Given the description of an element on the screen output the (x, y) to click on. 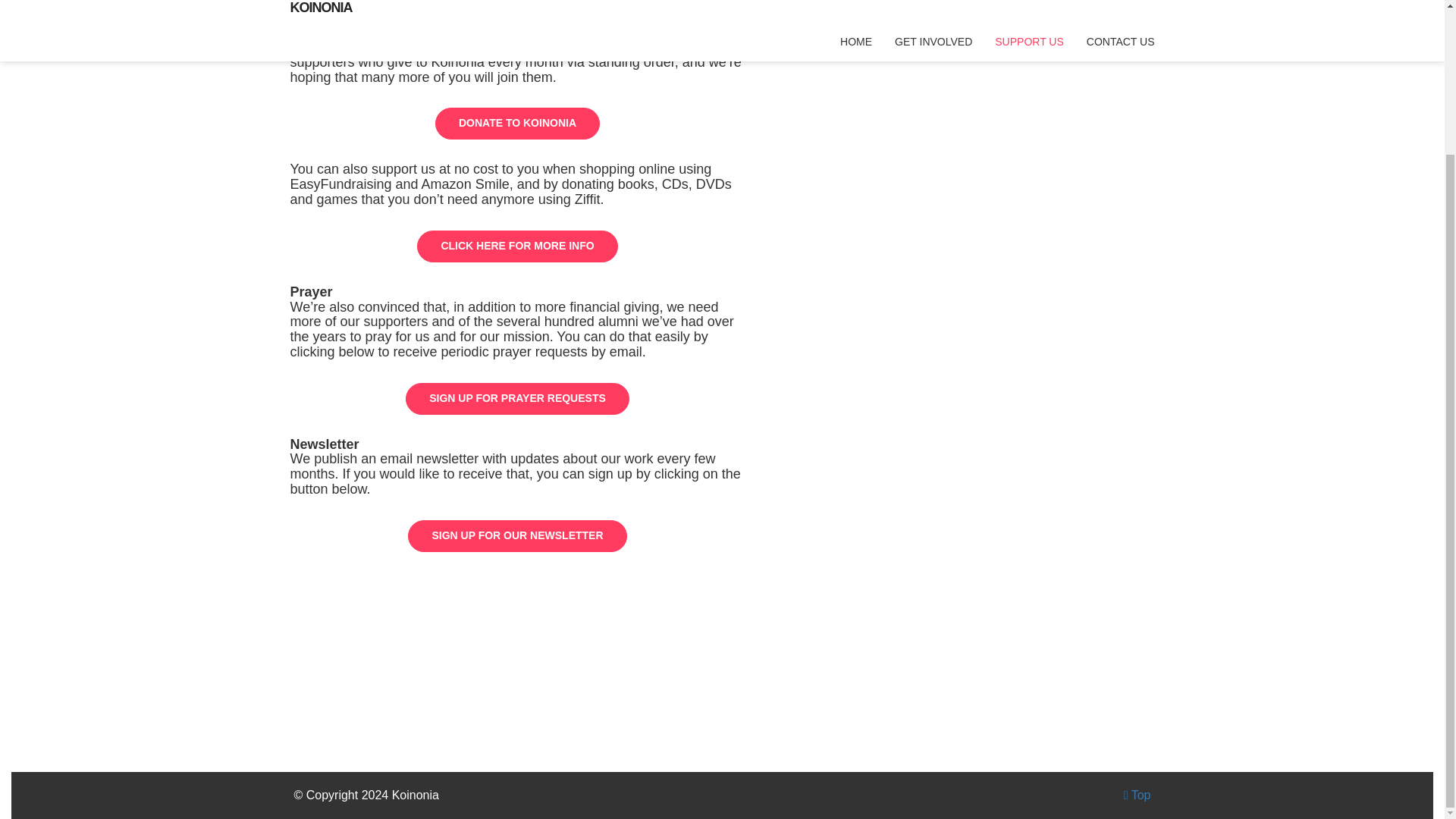
SIGN UP FOR PRAYER REQUESTS (517, 398)
DONATE TO KOINONIA (517, 123)
SIGN UP FOR OUR NEWSLETTER (516, 536)
CLICK HERE FOR MORE INFO (516, 246)
DONATE TO KOINONIA (517, 123)
Top (1137, 794)
SIGN UP FOR PRAYER REQUESTS (517, 398)
SIGN UP FOR OUR NEWSLETTER (516, 536)
CLICK HERE FOR MORE INFO (516, 246)
